Given the description of an element on the screen output the (x, y) to click on. 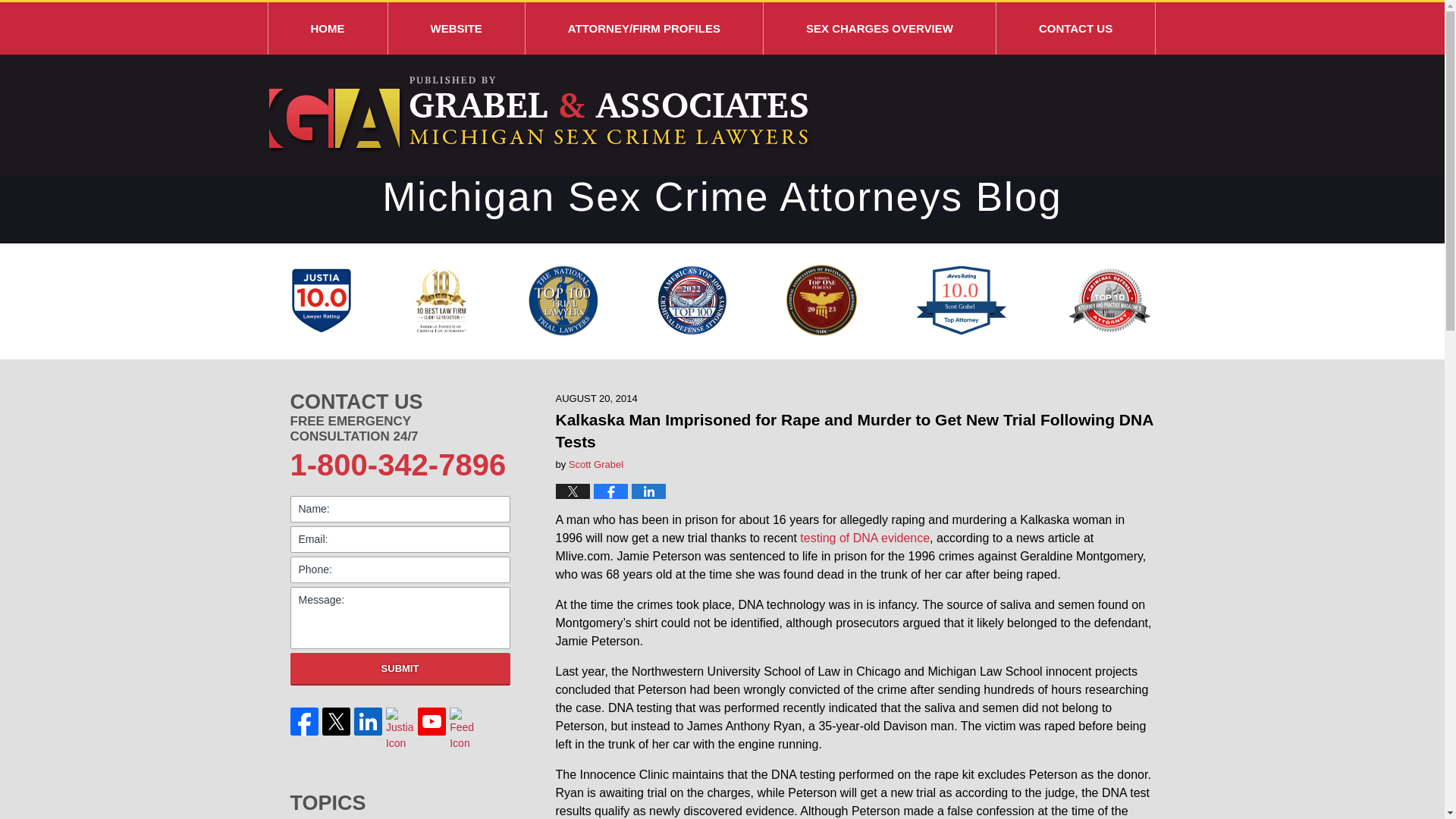
SUBMIT (399, 668)
HOME (327, 28)
WEBSITE (456, 28)
YouTube (432, 721)
Michigan Sex Crime Attorneys Blog (538, 114)
LinkedIn (368, 721)
CONTACT US (399, 401)
Scott Grabel (596, 464)
Facebook (304, 721)
Twitter (336, 721)
Please enter a valid phone number. (399, 569)
SEX CHARGES OVERVIEW (878, 28)
testing of DNA evidence (864, 537)
CONTACT US (1074, 28)
